Given the description of an element on the screen output the (x, y) to click on. 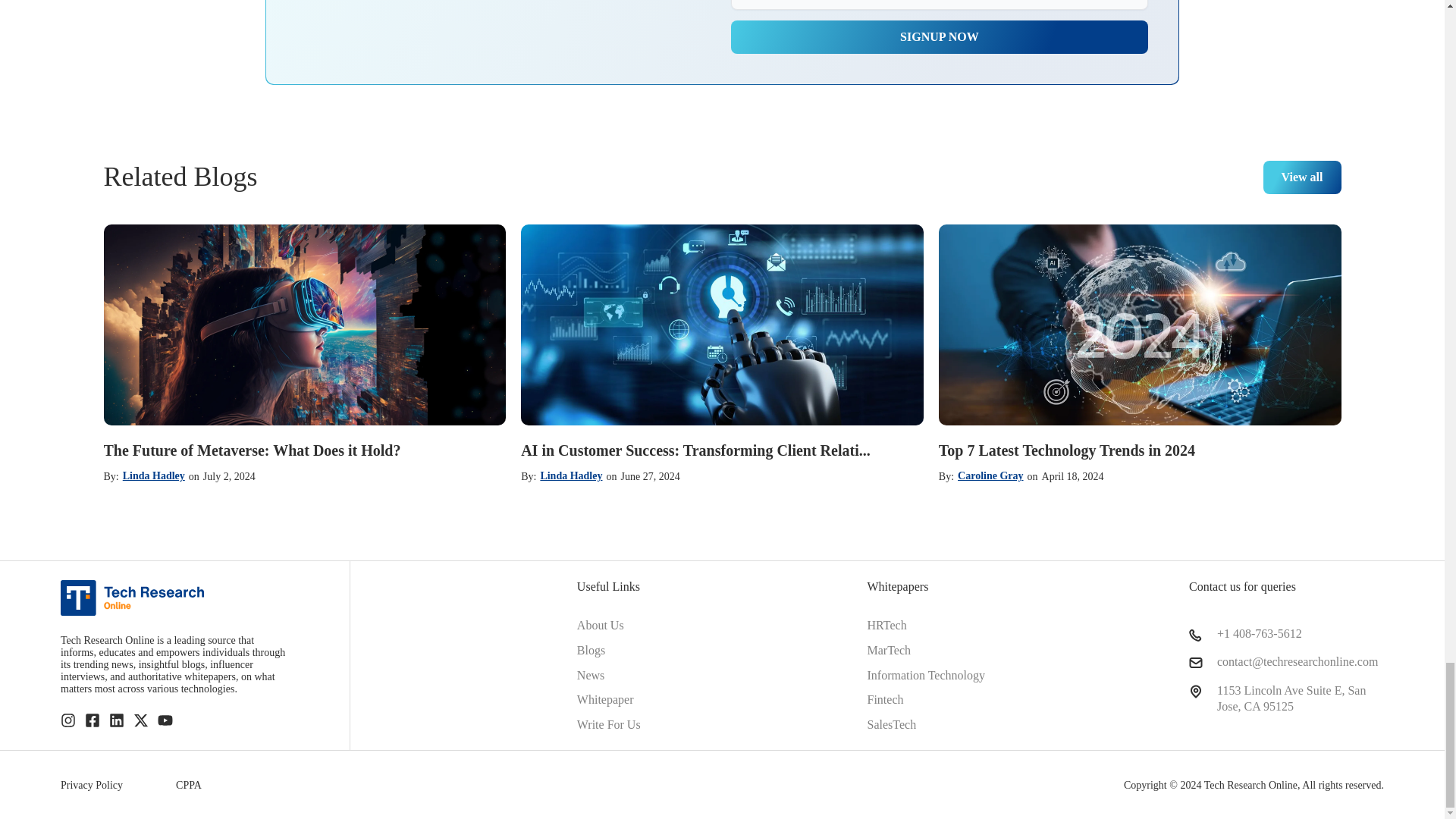
SIGNUP NOW (939, 37)
